Given the description of an element on the screen output the (x, y) to click on. 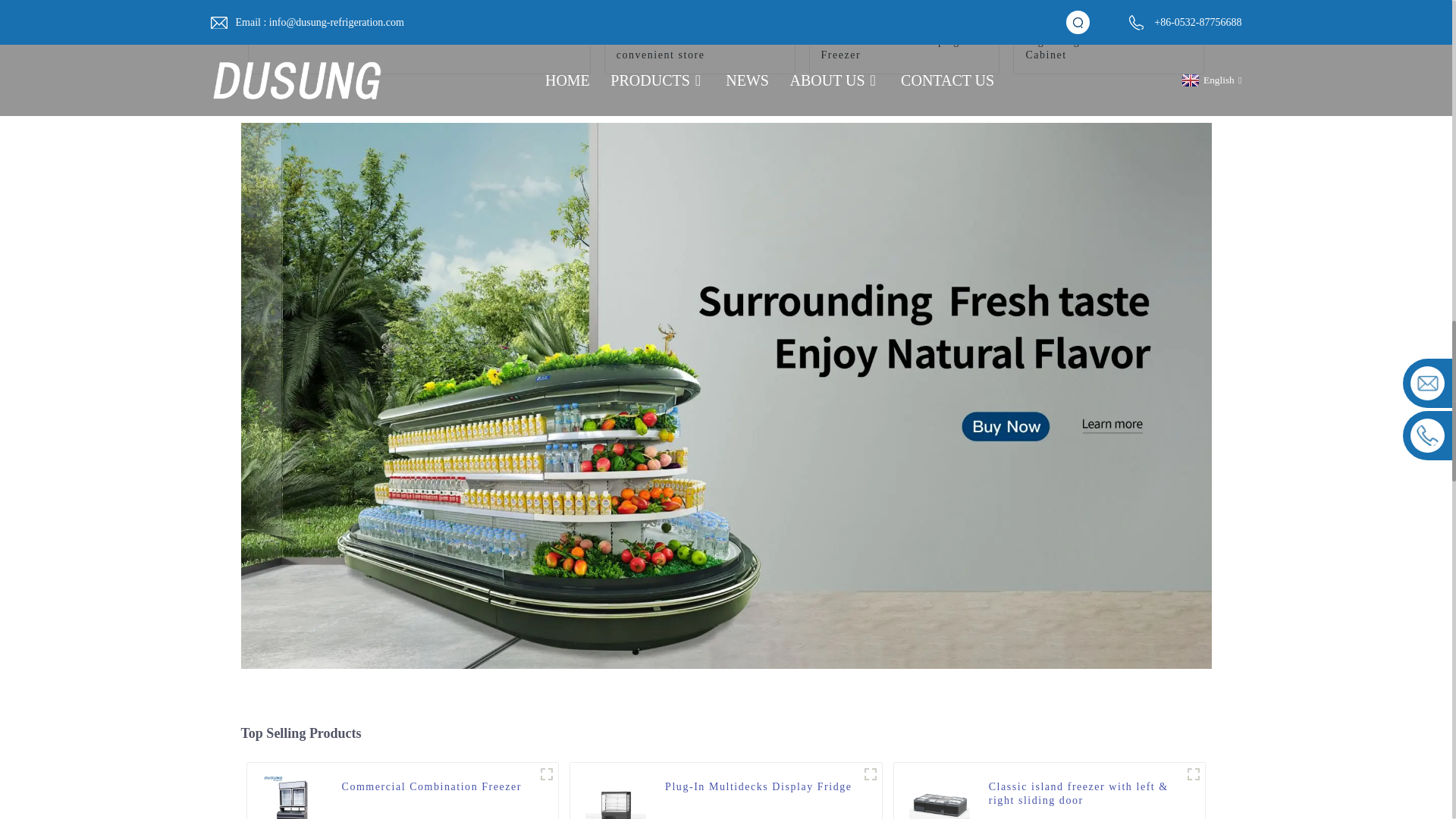
Small Freezer combination for convenient store (699, 48)
Small Freezer combination for convenient store (699, 48)
